Given the description of an element on the screen output the (x, y) to click on. 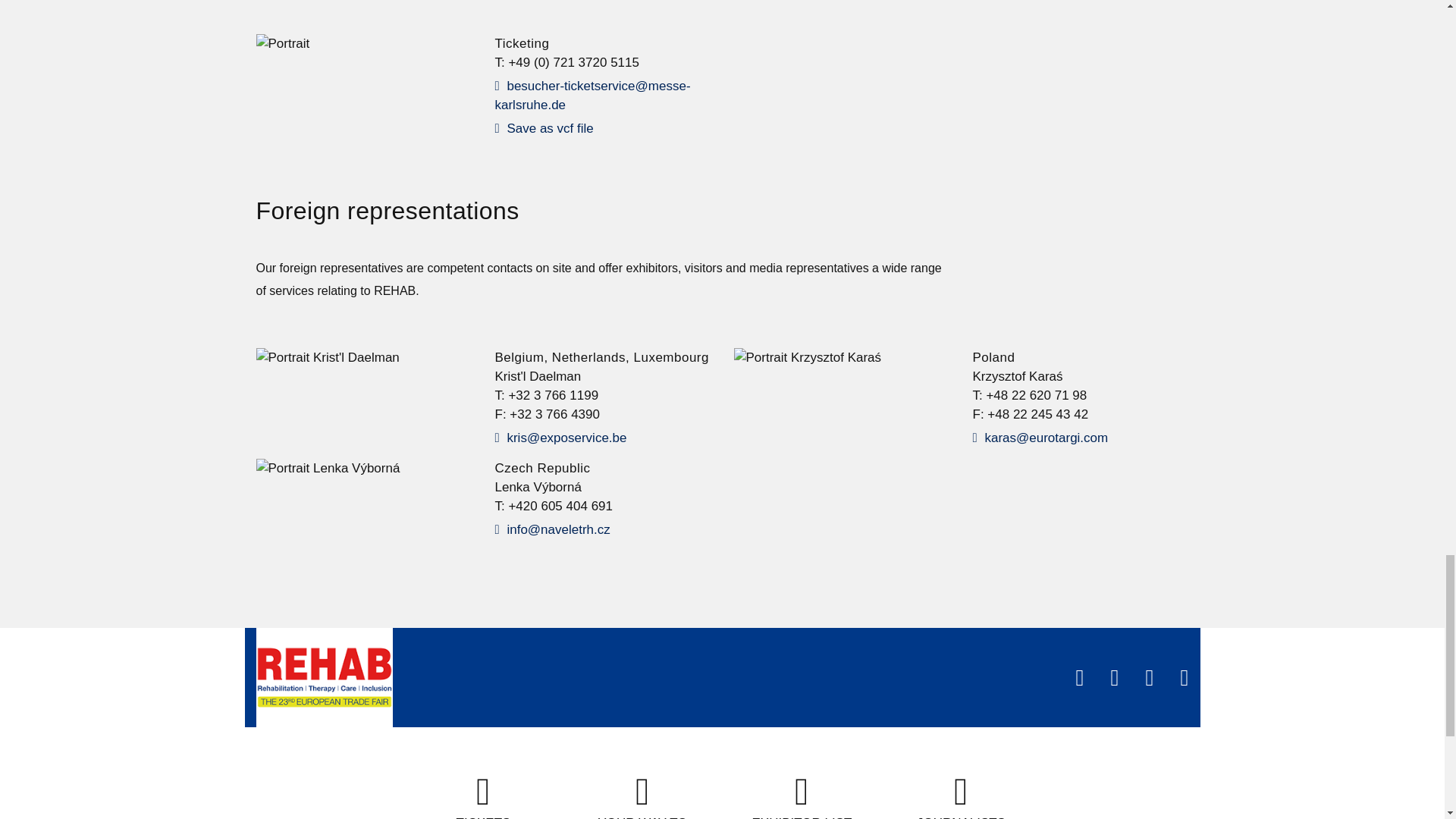
opens subpage journalists (961, 796)
Your way to REHAB (643, 796)
Exhibitor list (801, 796)
Tickets (482, 796)
home (324, 677)
